Given the description of an element on the screen output the (x, y) to click on. 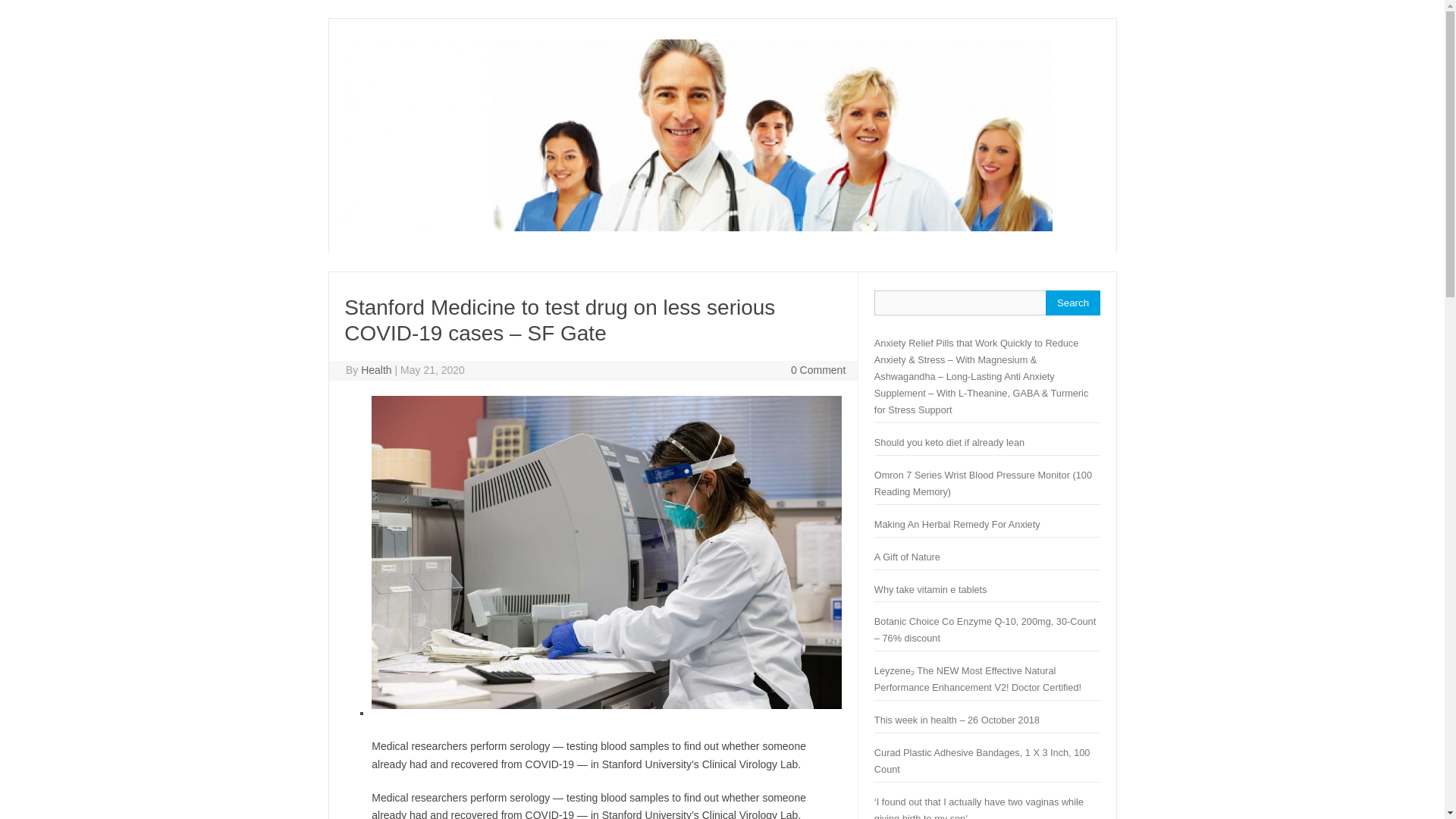
Should you keto diet if already lean (950, 441)
Search (1072, 302)
Health (376, 369)
Why take vitamin e tablets (931, 589)
0 Comment (817, 369)
Curad Plastic Adhesive Bandages, 1 X 3 Inch, 100 Count (982, 760)
A Gift of Nature (907, 556)
Search (1072, 302)
Posts by Health (376, 369)
Making An Herbal Remedy For Anxiety (958, 523)
Health (695, 227)
